Given the description of an element on the screen output the (x, y) to click on. 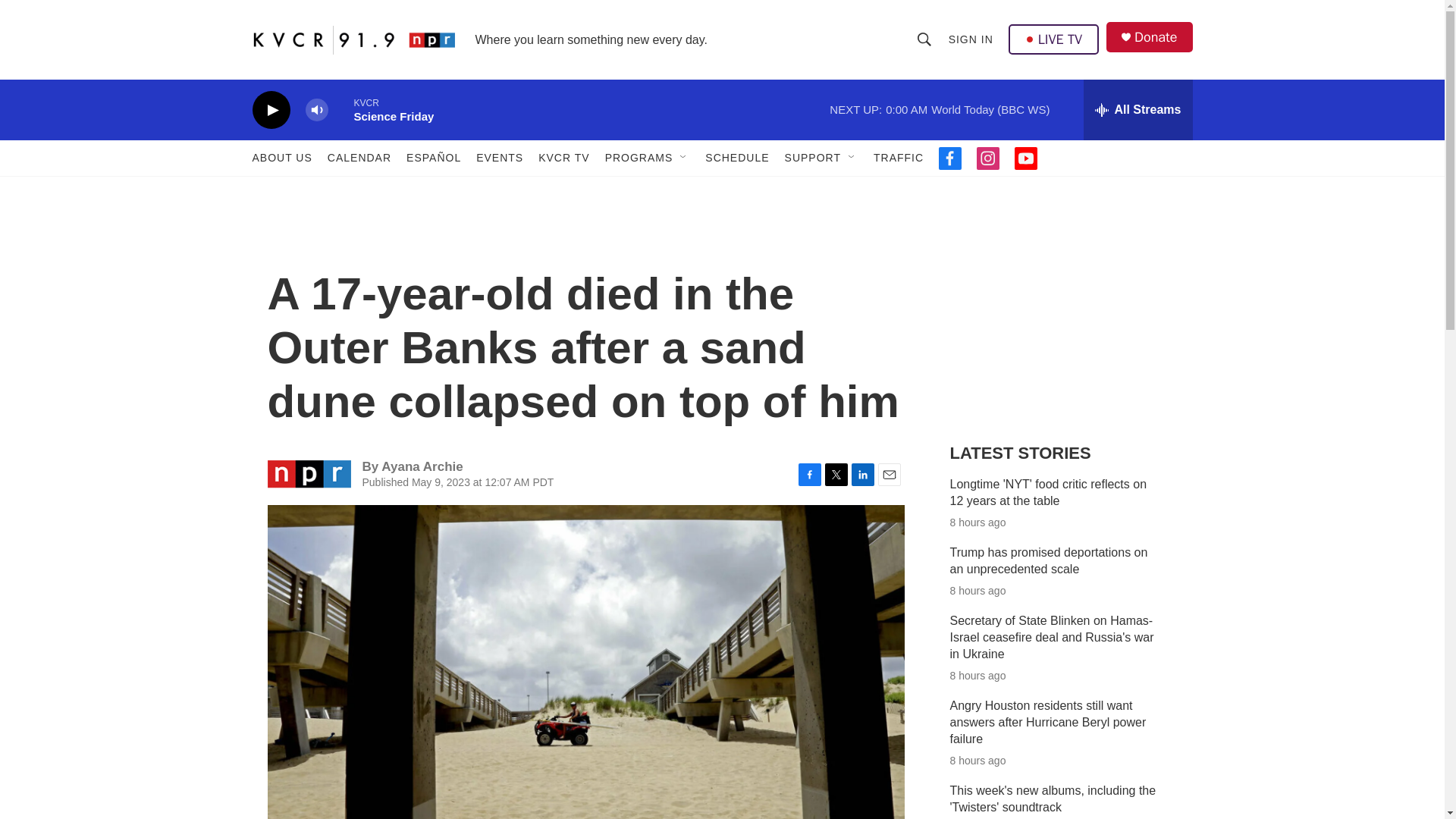
3rd party ad content (1062, 316)
